Given the description of an element on the screen output the (x, y) to click on. 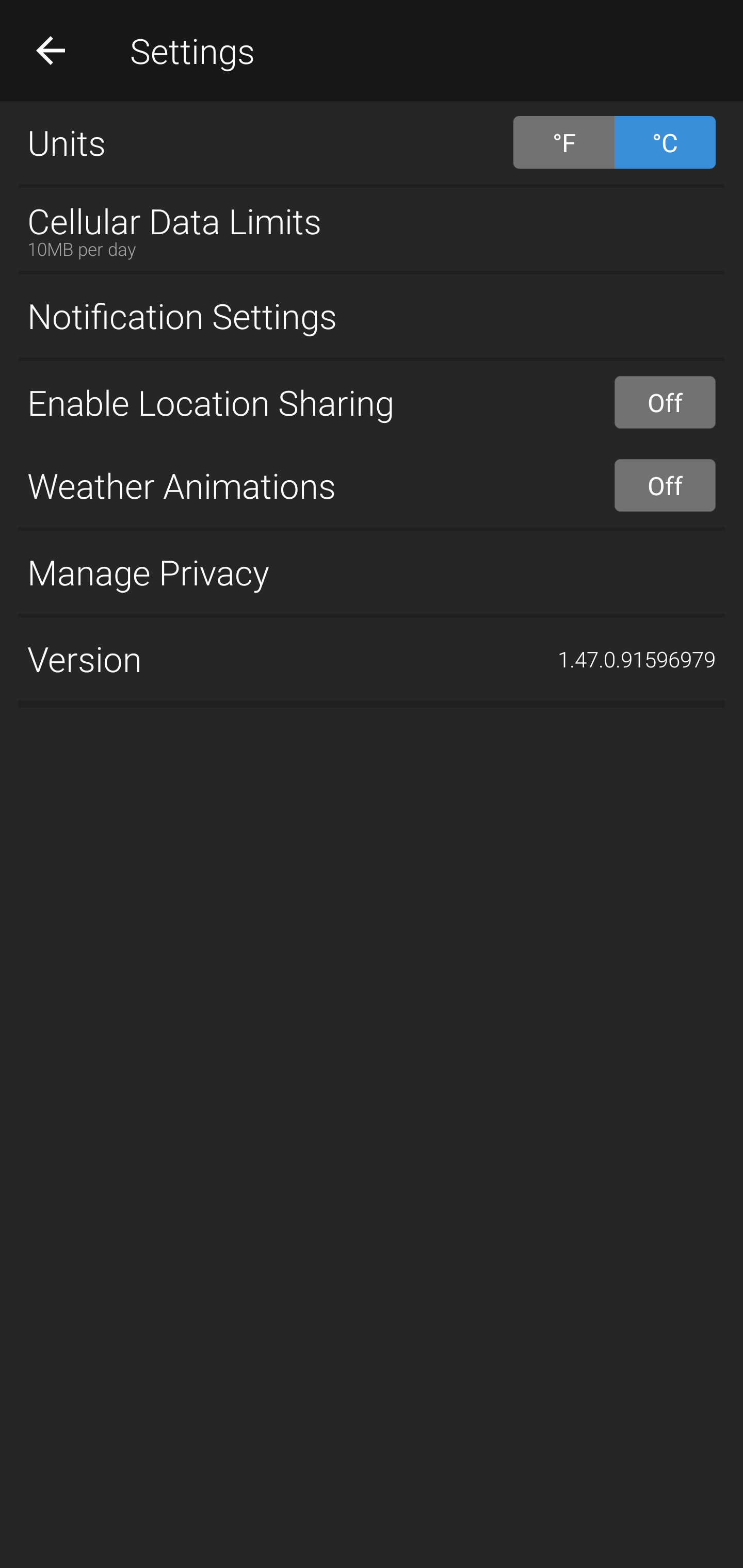
Navigate up (50, 50)
°F (563, 142)
°C (664, 142)
Cellular Data Limits 10MB per day (371, 229)
Notification Settings (371, 315)
Enable Location Sharing Off (371, 401)
Off (664, 402)
Weather Animations Off (371, 484)
Off (664, 485)
Manage Privacy (371, 571)
1.47.0.91596979 (636, 658)
